Given the description of an element on the screen output the (x, y) to click on. 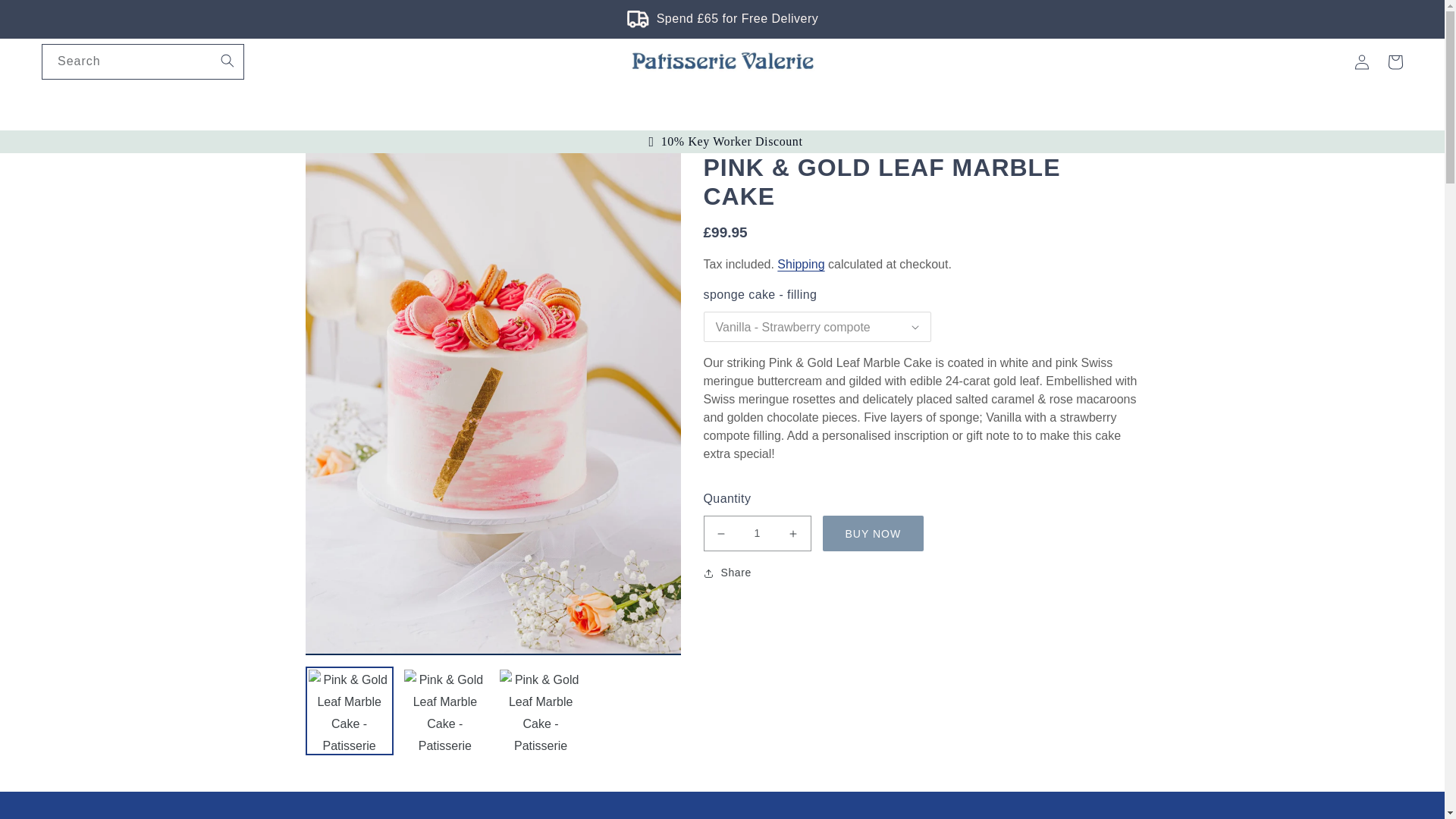
Log in (1361, 61)
Shipping (800, 264)
1 (757, 533)
Skip to product information (350, 170)
Skip to content (45, 17)
Cart (1395, 61)
